Given the description of an element on the screen output the (x, y) to click on. 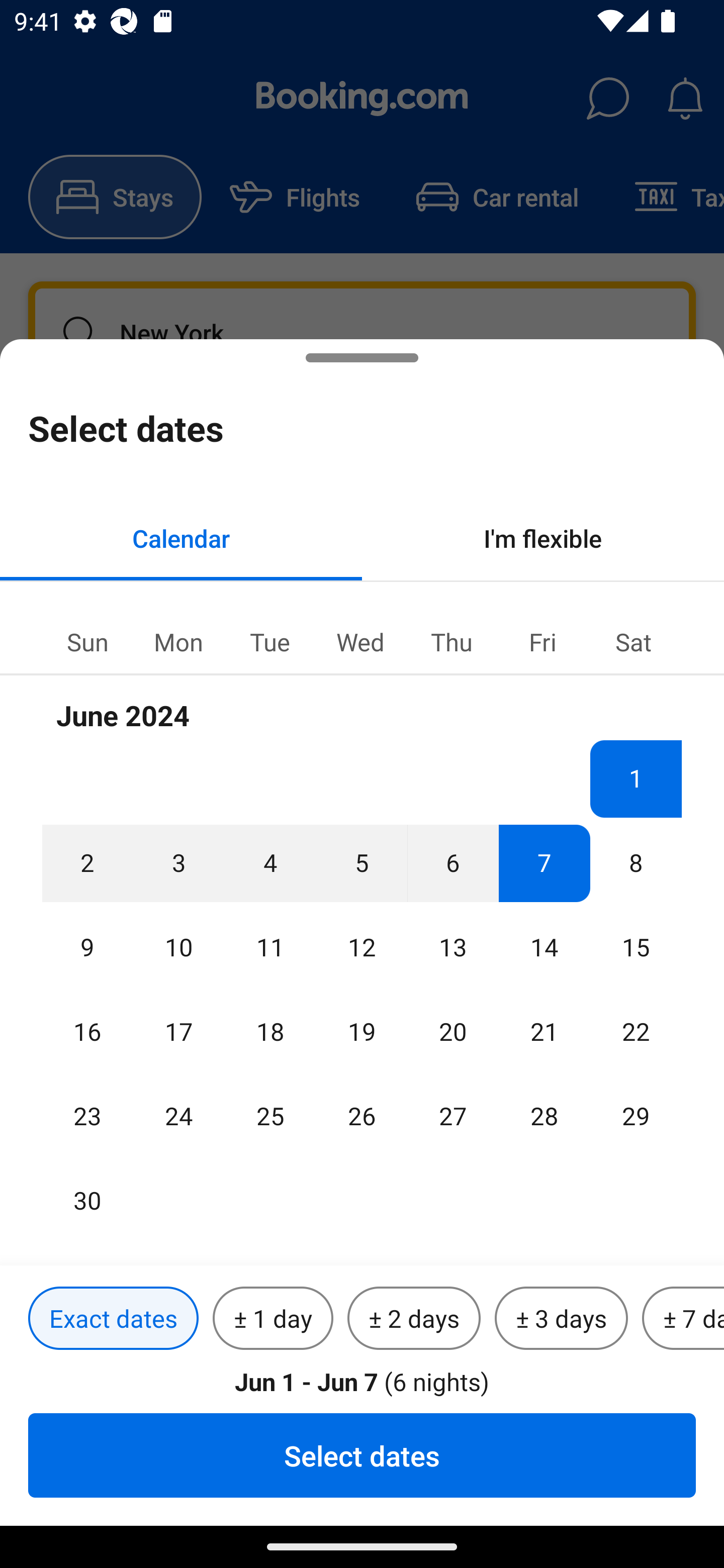
I'm flexible (543, 537)
Exact dates (113, 1318)
± 1 day (272, 1318)
± 2 days (413, 1318)
± 3 days (560, 1318)
± 7 days (683, 1318)
Select dates (361, 1454)
